Given the description of an element on the screen output the (x, y) to click on. 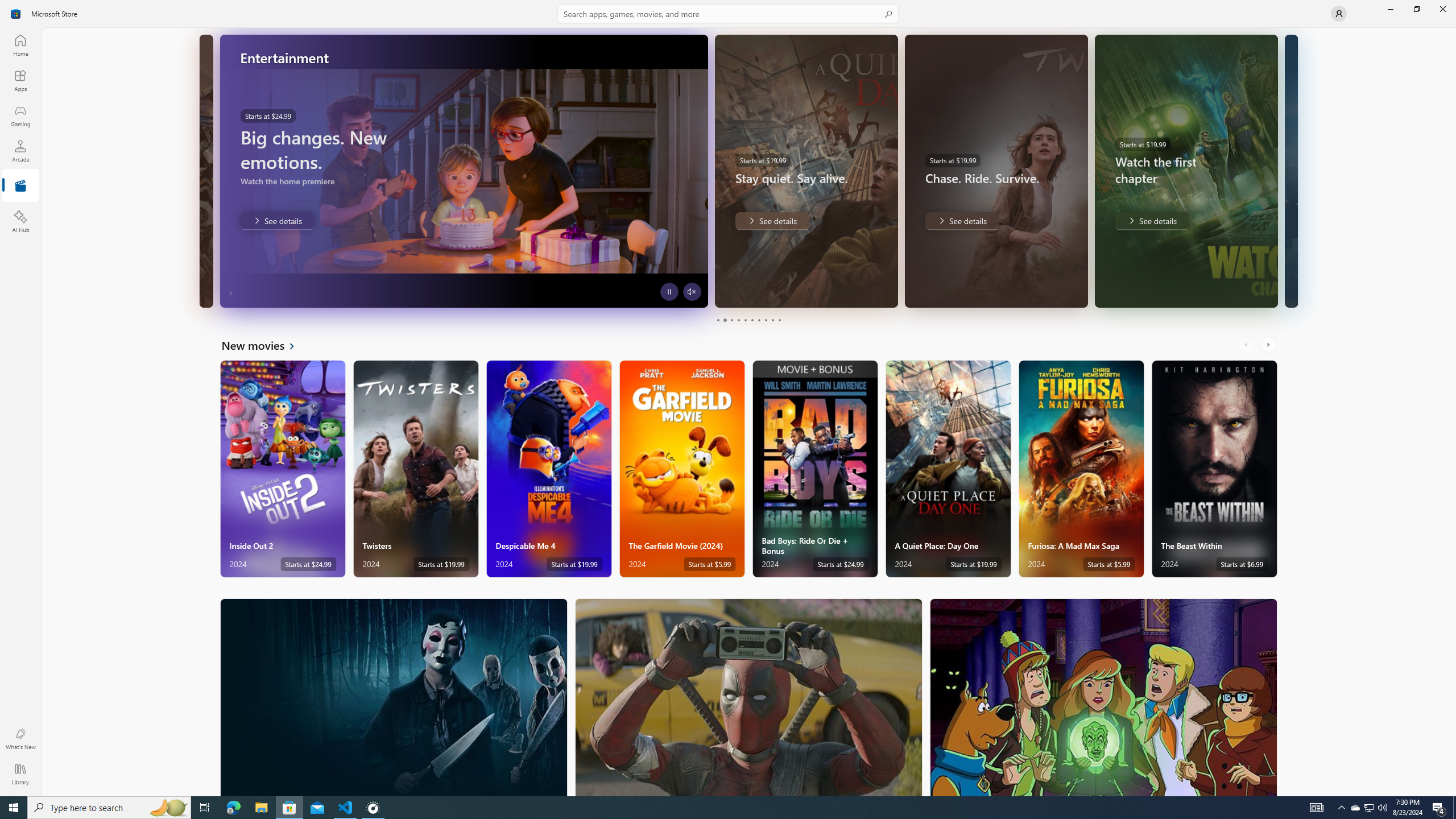
Action & Adventure (749, 697)
The Garfield Movie (2024). Starts at $5.99   (681, 469)
Horror (393, 697)
AutomationID: NavigationControl (728, 398)
Page 5 (744, 319)
Pager (748, 319)
Page 4 (738, 319)
Page 10 (779, 319)
The Beast Within. Starts at $6.99   (1213, 469)
Page 8 (764, 319)
